Given the description of an element on the screen output the (x, y) to click on. 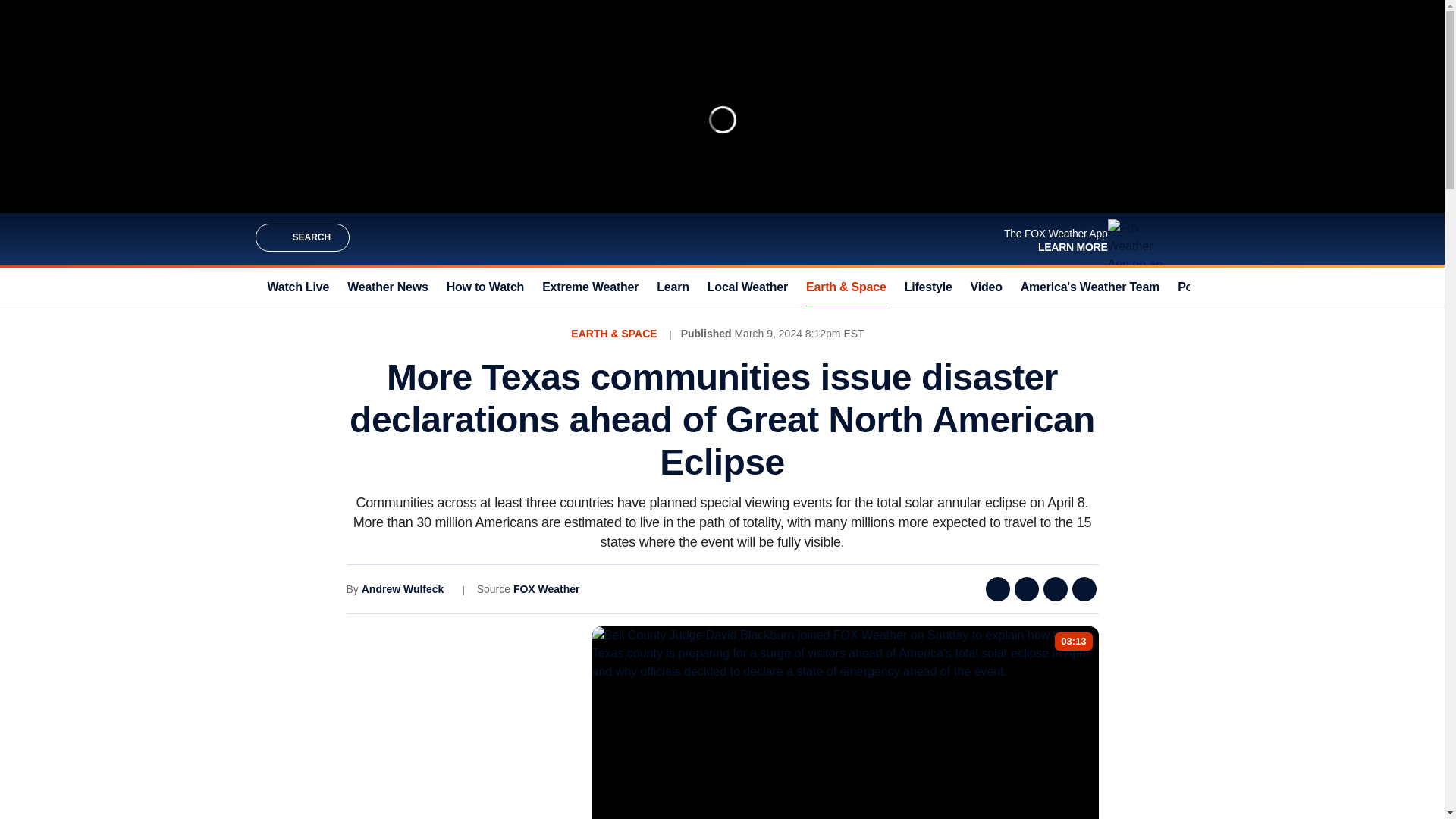
Fox Weather (720, 238)
How to Watch (485, 286)
Lifestyle (928, 286)
Twitter (1026, 589)
Andrew Wulfeck (402, 589)
Email (1055, 589)
Copy Link (1083, 589)
Facebook (997, 589)
03:13 (1073, 641)
SEARCH (302, 237)
